Given the description of an element on the screen output the (x, y) to click on. 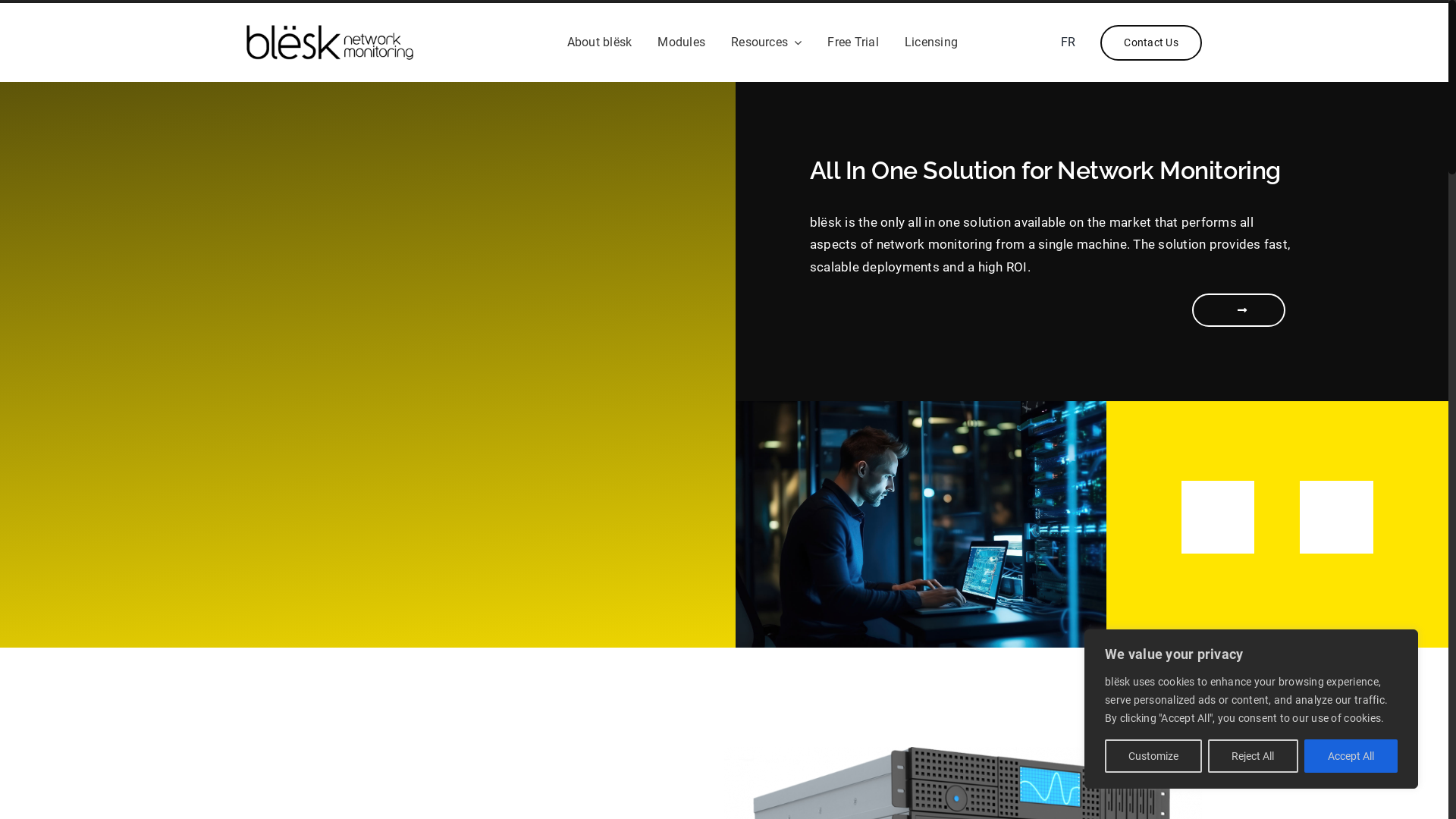
FR Element type: text (1067, 42)
Contact Us Element type: text (1150, 41)
Free Trial Element type: text (852, 42)
Reject All Element type: text (1252, 755)
Accept All Element type: text (1350, 755)
Resources Element type: text (766, 42)
Modules Element type: text (681, 42)
Licensing Element type: text (930, 42)
Customize Element type: text (1152, 755)
